Given the description of an element on the screen output the (x, y) to click on. 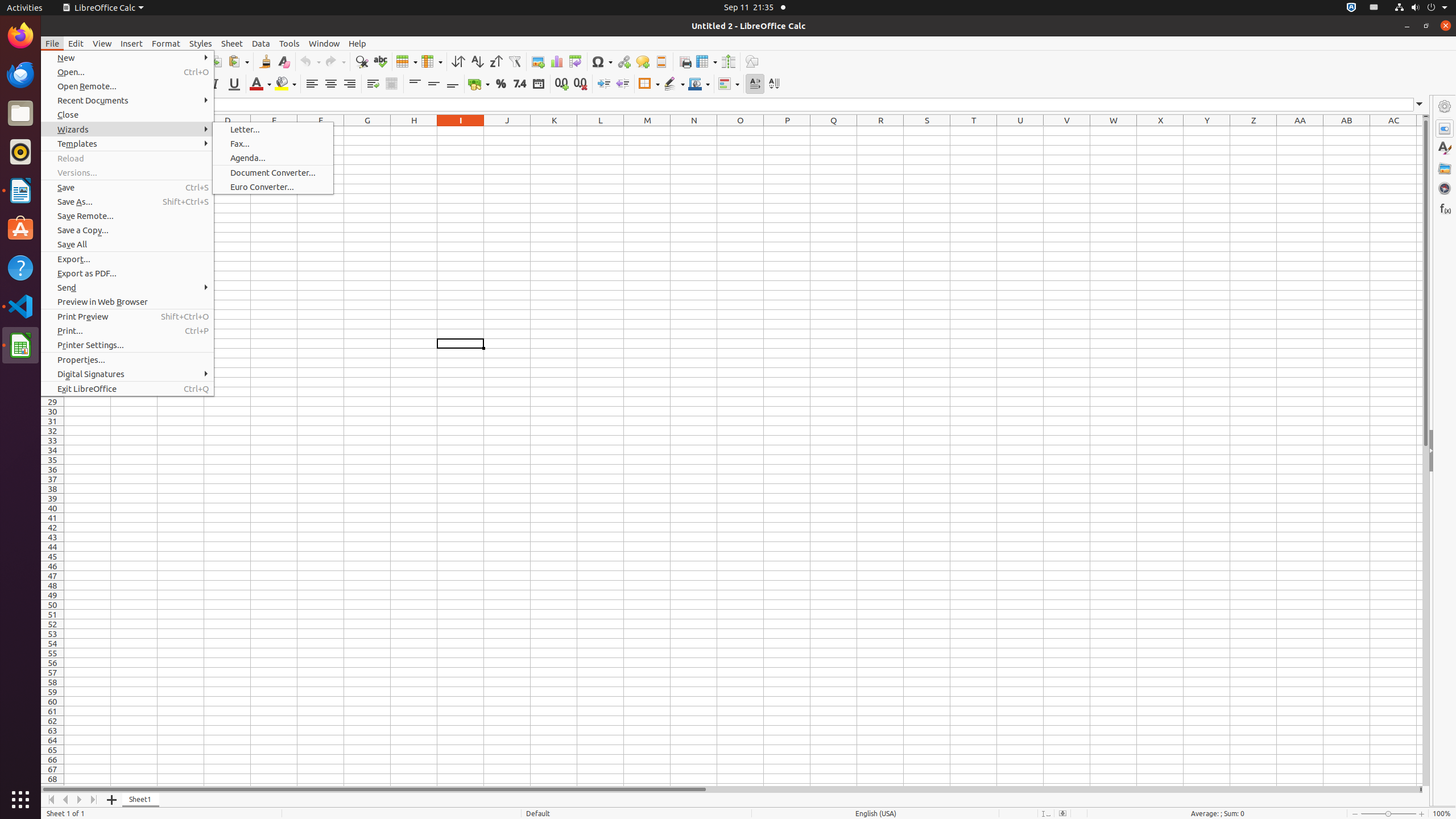
Send Element type: menu (126, 287)
Percent Element type: push-button (500, 83)
Spelling Element type: push-button (379, 61)
Open Remote... Element type: menu-item (126, 86)
